Given the description of an element on the screen output the (x, y) to click on. 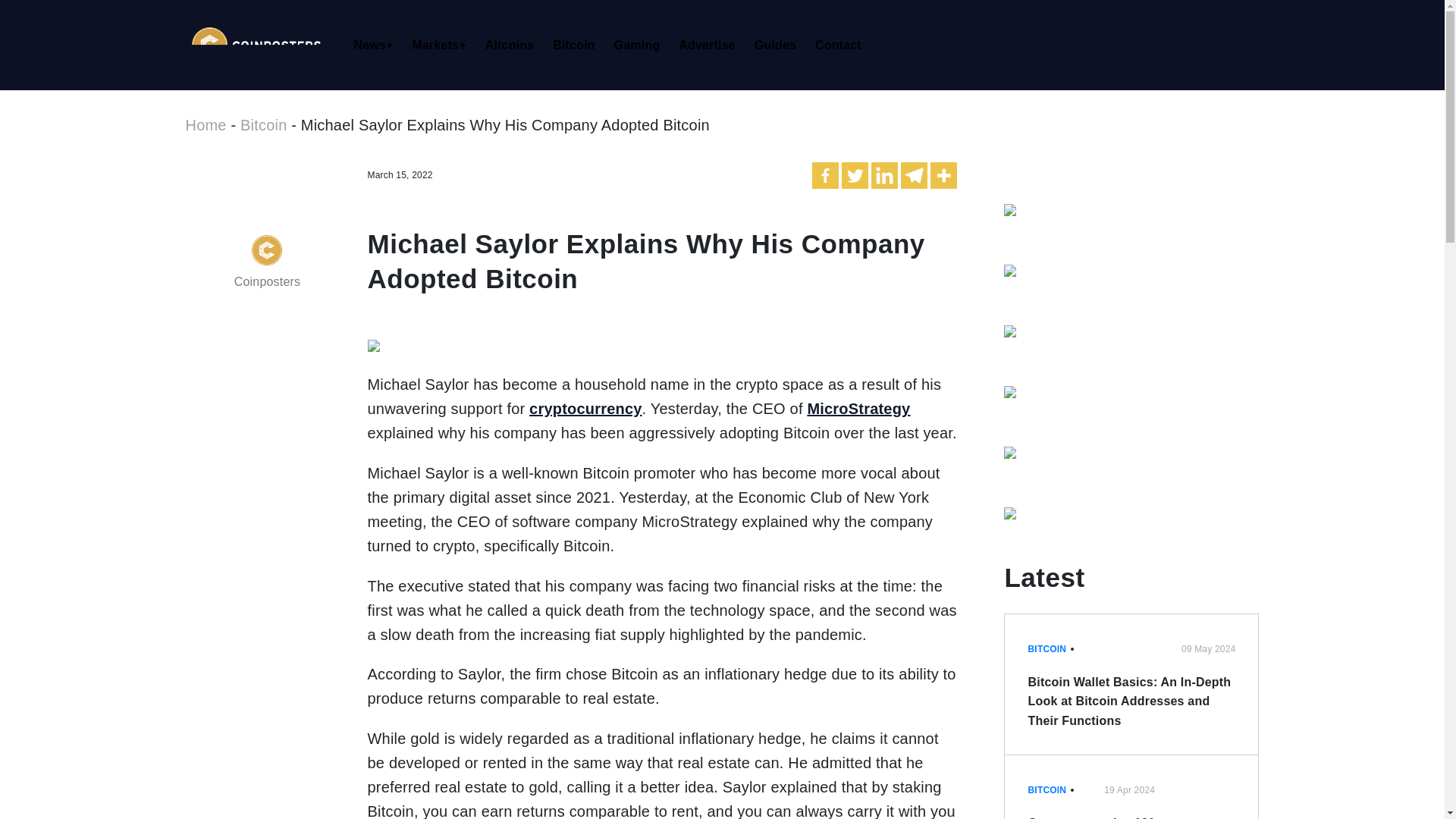
Altcoins (514, 45)
Advertise (711, 45)
Gaming (641, 45)
More (943, 175)
MicroStrategy (858, 408)
Guides (780, 45)
cryptocurrency (585, 408)
Telegram (914, 175)
Linkedin (884, 175)
Twitter (854, 175)
Home (204, 125)
Facebook (825, 175)
Contact (842, 45)
Bitcoin (578, 45)
Bitcoin (263, 125)
